Given the description of an element on the screen output the (x, y) to click on. 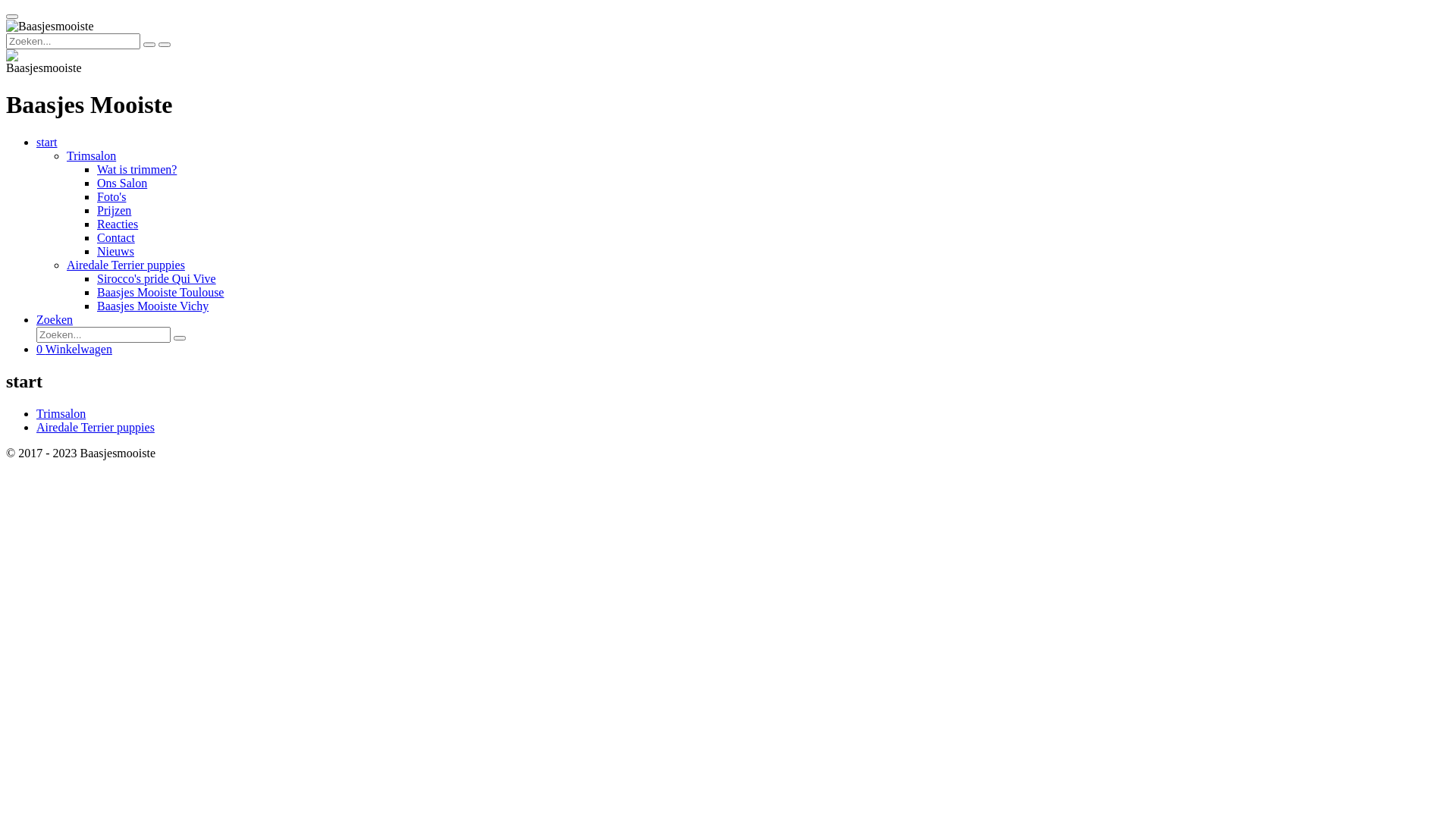
Nieuws Element type: text (115, 250)
Prijzen Element type: text (114, 209)
Baasjesmooiste Element type: hover (43, 62)
Baasjes Mooiste Toulouse Element type: text (160, 291)
Sirocco's pride Qui Vive Element type: text (156, 278)
Trimsalon Element type: text (91, 155)
Reacties Element type: text (117, 223)
Zoeken Element type: text (54, 319)
Trimsalon Element type: text (60, 413)
Airedale Terrier puppies Element type: text (125, 264)
0 Winkelwagen Element type: text (74, 348)
Wat is trimmen? Element type: text (136, 169)
Baasjesmooiste Element type: hover (50, 26)
Airedale Terrier puppies Element type: text (95, 426)
Foto's Element type: text (111, 196)
Ons Salon Element type: text (122, 182)
start Element type: text (46, 141)
Baasjes Mooiste Vichy Element type: text (152, 305)
Contact Element type: text (115, 237)
